Given the description of an element on the screen output the (x, y) to click on. 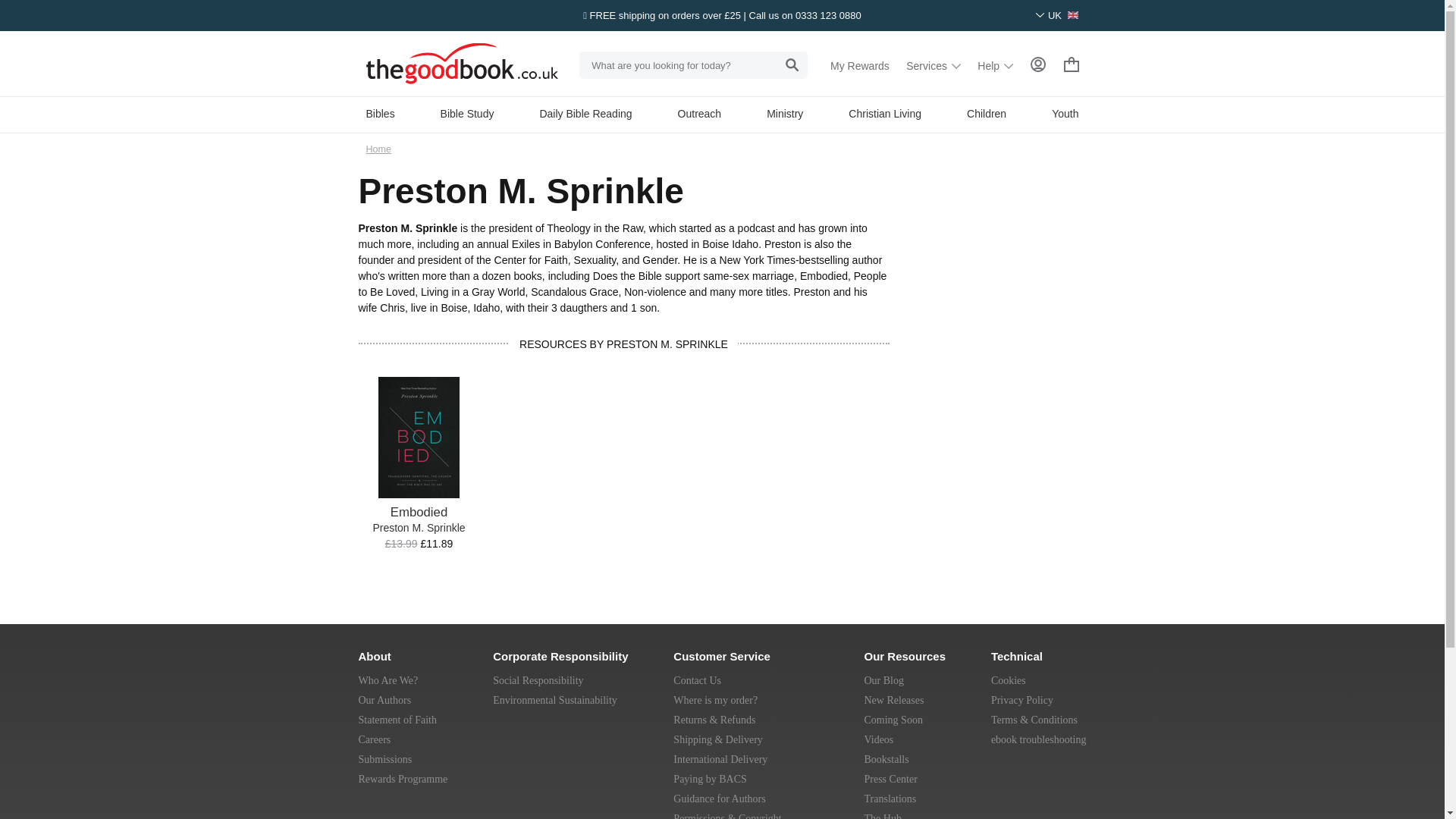
Help (994, 65)
Sign in (1037, 65)
Bibles (379, 113)
UK (1056, 14)
Sign in (1037, 64)
My Rewards (859, 65)
Services (932, 65)
Go to Home Page (378, 149)
